Given the description of an element on the screen output the (x, y) to click on. 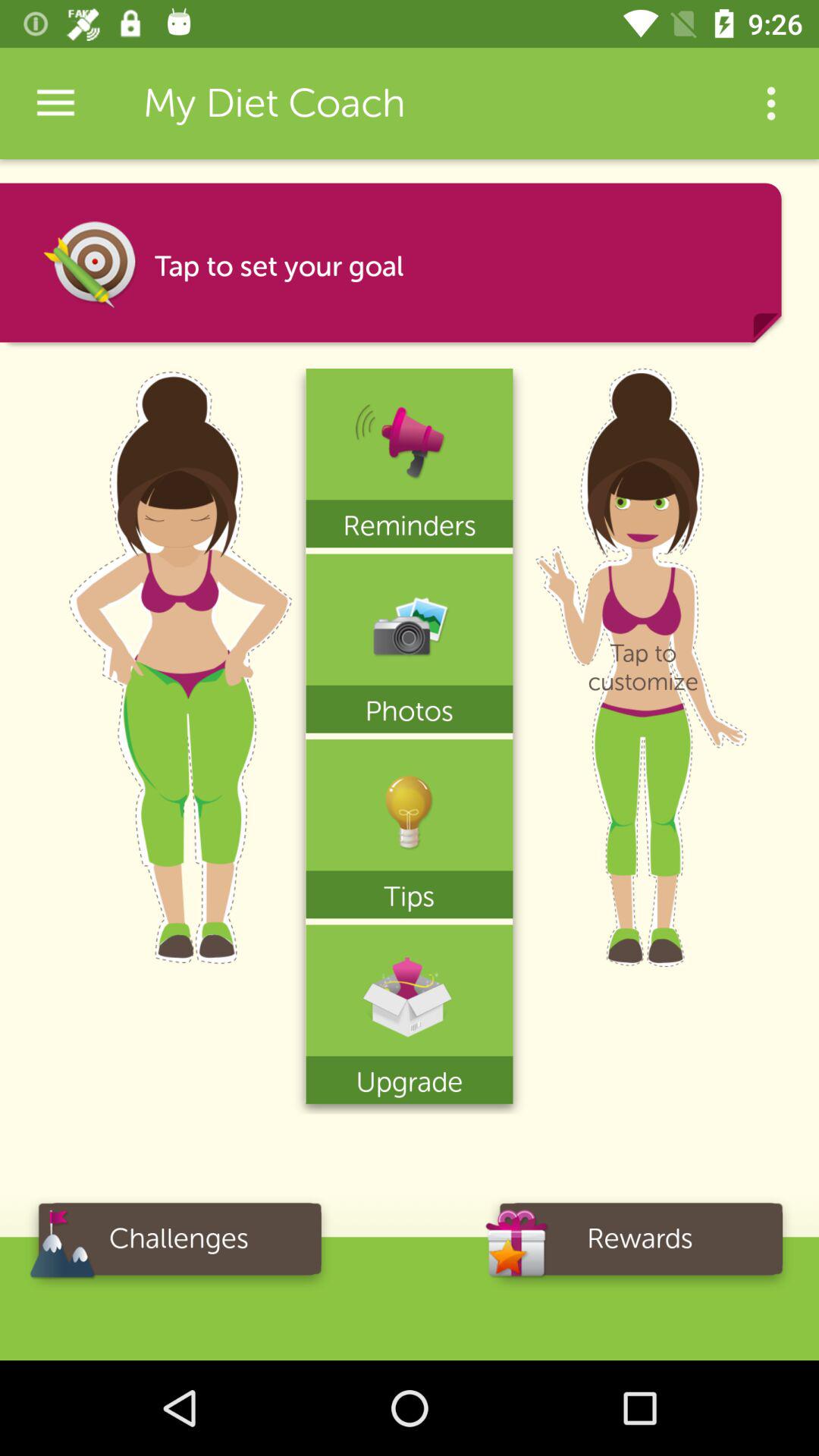
press the rewards icon (639, 1243)
